Given the description of an element on the screen output the (x, y) to click on. 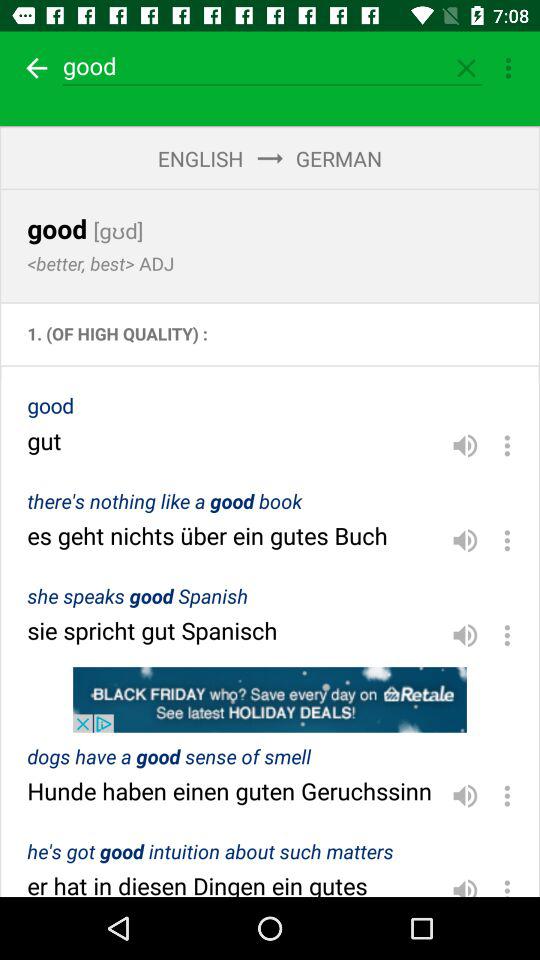
play loudly (465, 796)
